Given the description of an element on the screen output the (x, y) to click on. 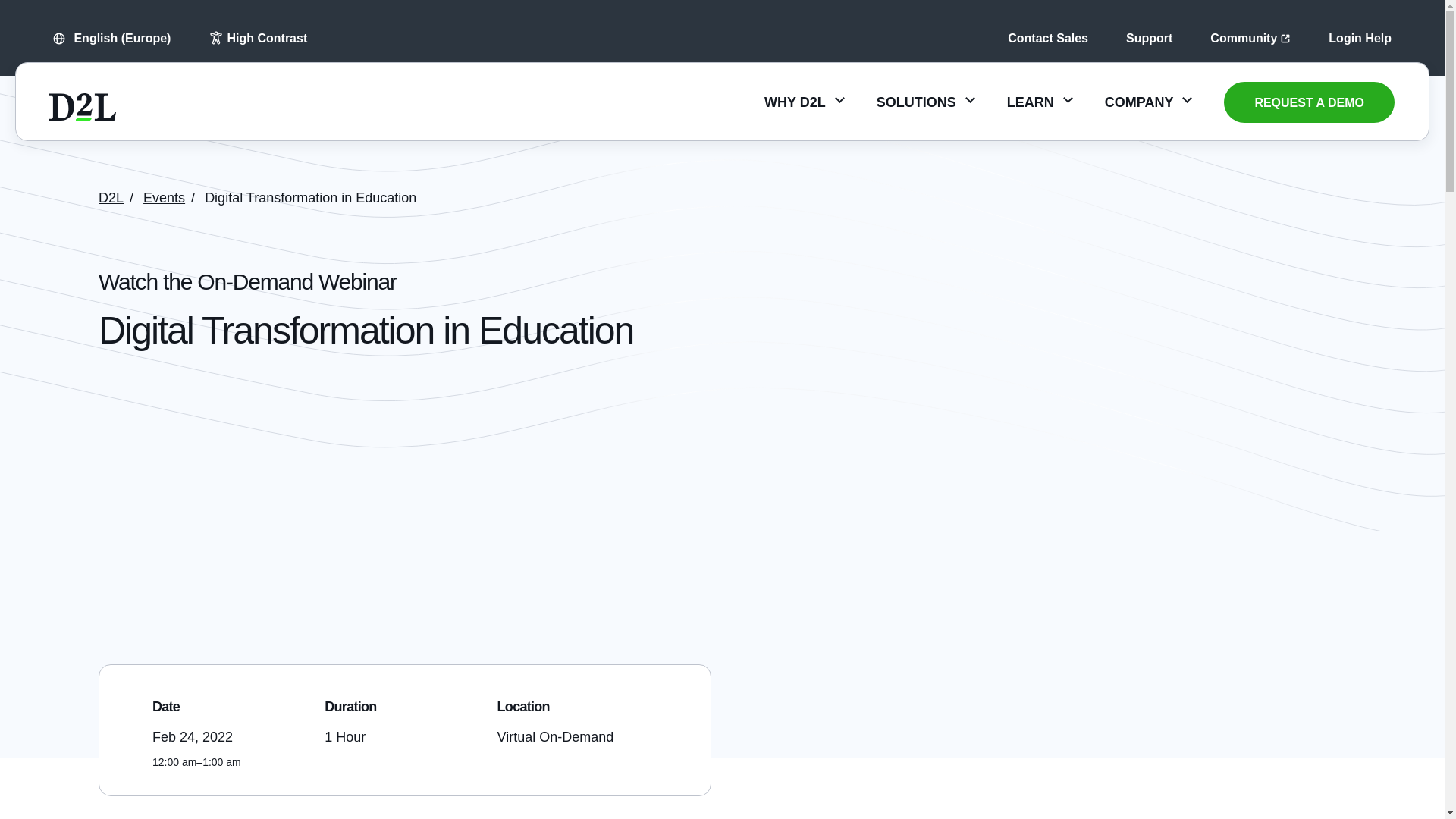
SOLUTIONS (925, 102)
Support (1148, 38)
High Contrast (257, 38)
Community (1249, 38)
Go to Events. (163, 197)
WHY D2L (803, 102)
Login Help (1359, 38)
Go to D2L. (111, 197)
Contact Sales (1047, 38)
